Given the description of an element on the screen output the (x, y) to click on. 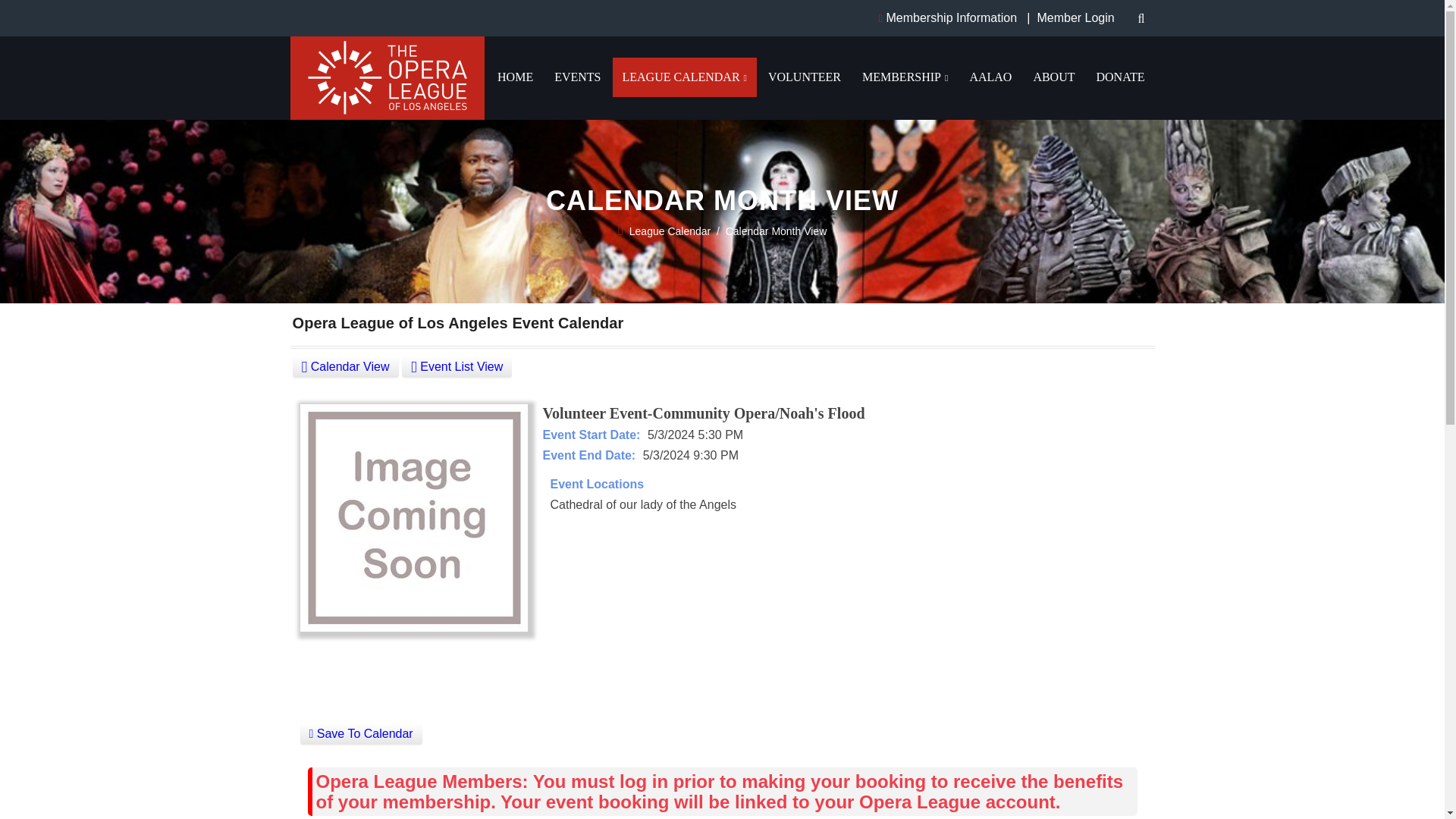
Member Login (1074, 17)
ABOUT (1053, 76)
Click to view list view. (456, 366)
Opera League of Los Angeles (386, 50)
MEMBERSHIP (904, 76)
VOLUNTEER (804, 76)
Membership Information (951, 17)
Click to view calendar view. (345, 366)
EVENTS (577, 76)
LEAGUE CALENDAR (684, 76)
DONATE (1120, 76)
Membership Information (951, 17)
HOME (515, 76)
Member Login (1074, 17)
Calendar Month View (776, 231)
